Given the description of an element on the screen output the (x, y) to click on. 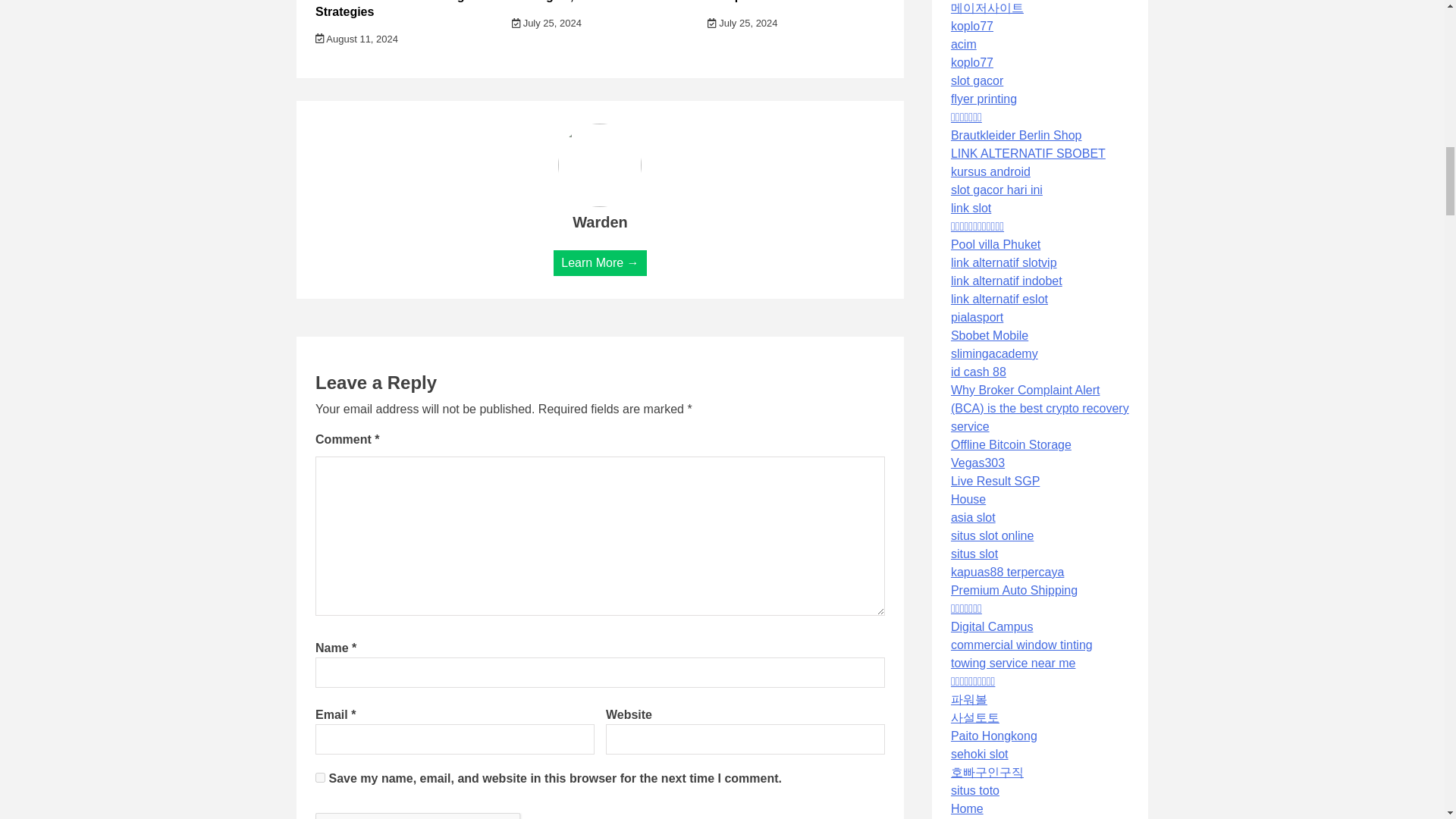
July 25, 2024 (742, 22)
Understanding Betting: A Comprehensive Guide (780, 1)
August 11, 2024 (356, 39)
reCAPTCHA (430, 816)
Understanding Betting: Types, Strategies, and Risks (599, 1)
July 25, 2024 (546, 22)
yes (319, 777)
